Given the description of an element on the screen output the (x, y) to click on. 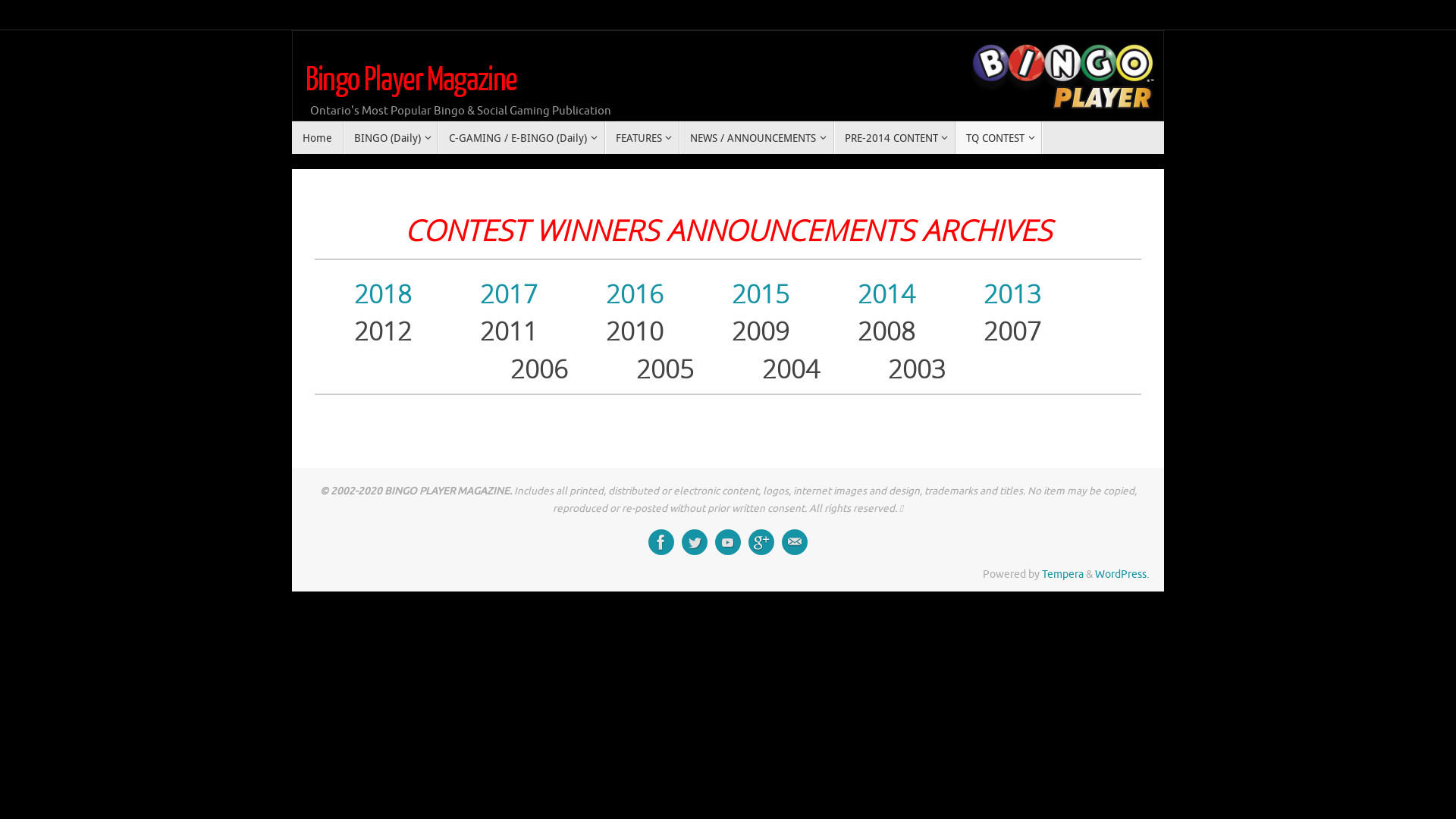
Twitter Element type: hover (694, 542)
Facebook Element type: hover (661, 542)
Mail Element type: hover (794, 542)
NEWS / ANNOUNCEMENTS Element type: text (756, 137)
YouTube Element type: hover (727, 542)
TQ CONTEST Element type: text (998, 137)
Tempera Element type: text (1062, 573)
2015 Element type: text (759, 293)
GooglePlus Element type: hover (761, 542)
WordPress. Element type: text (1121, 573)
Bingo Player Magazine Element type: text (411, 79)
2018 Element type: text (382, 293)
2017 Element type: text (507, 293)
2016 Element type: text (633, 293)
PRE-2014 CONTENT Element type: text (894, 137)
Home Element type: text (317, 137)
2013 Element type: text (1011, 293)
C-GAMING / E-BINGO (Daily) Element type: text (521, 137)
2014 Element type: text (885, 293)
FEATURES Element type: text (642, 137)
BINGO (Daily) Element type: text (390, 137)
